Given the description of an element on the screen output the (x, y) to click on. 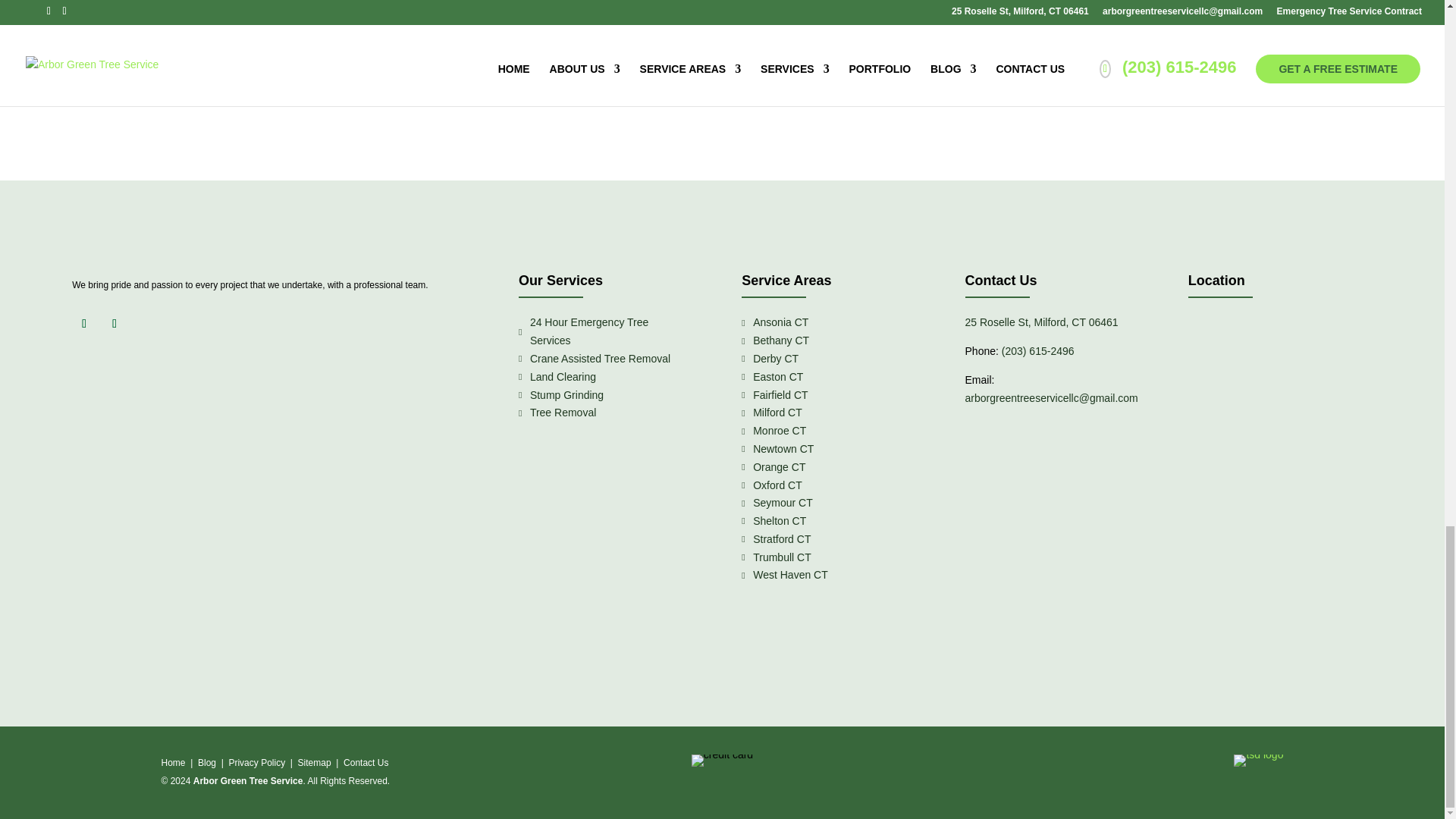
Follow on Facebook (83, 323)
cashcheckpaypal (721, 760)
tsd logo (1257, 754)
Follow on Instagram (113, 323)
